Given the description of an element on the screen output the (x, y) to click on. 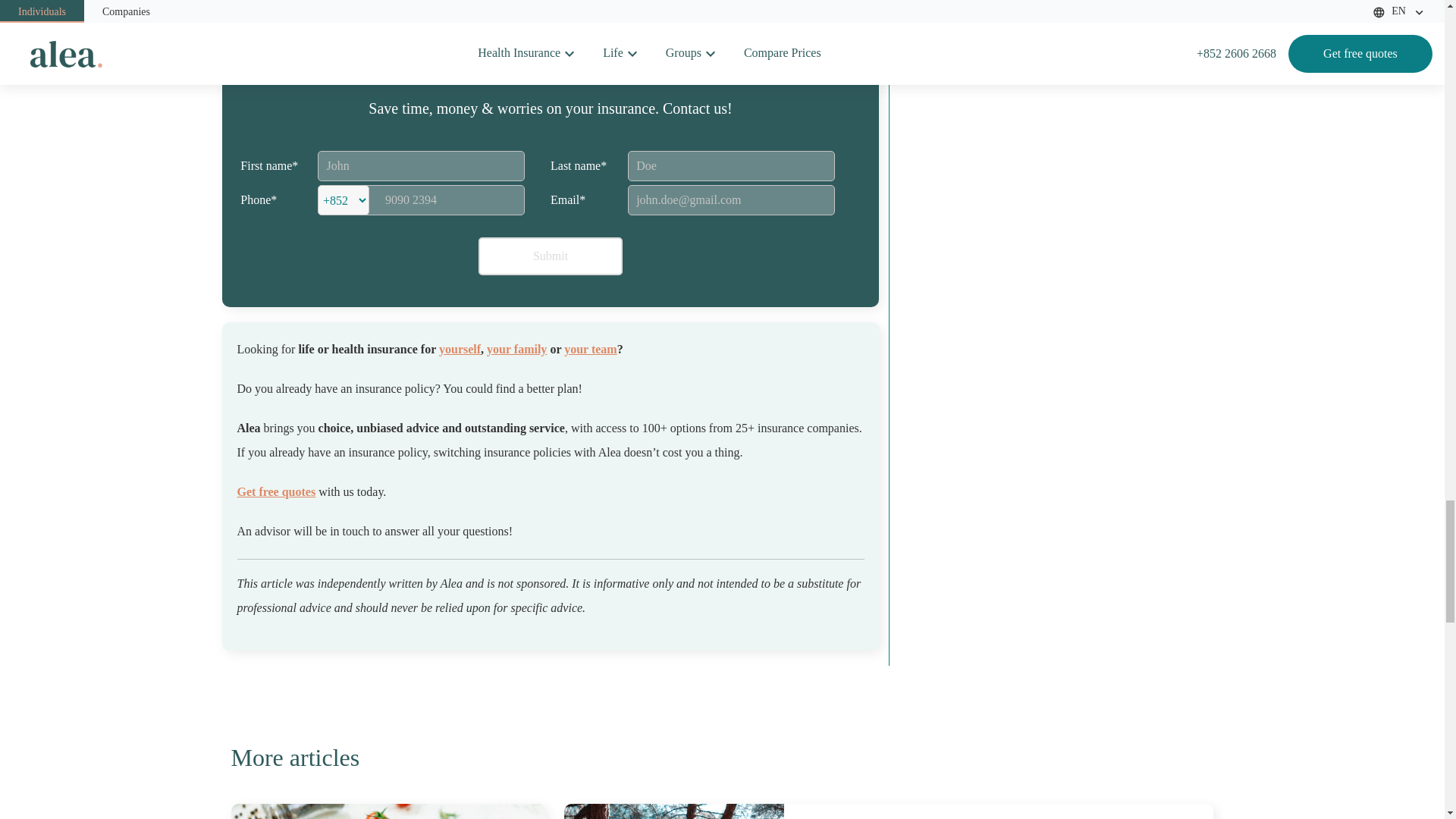
Get free quotes (388, 811)
Submit (275, 491)
your team (551, 256)
yourself (589, 349)
your family (459, 349)
